Given the description of an element on the screen output the (x, y) to click on. 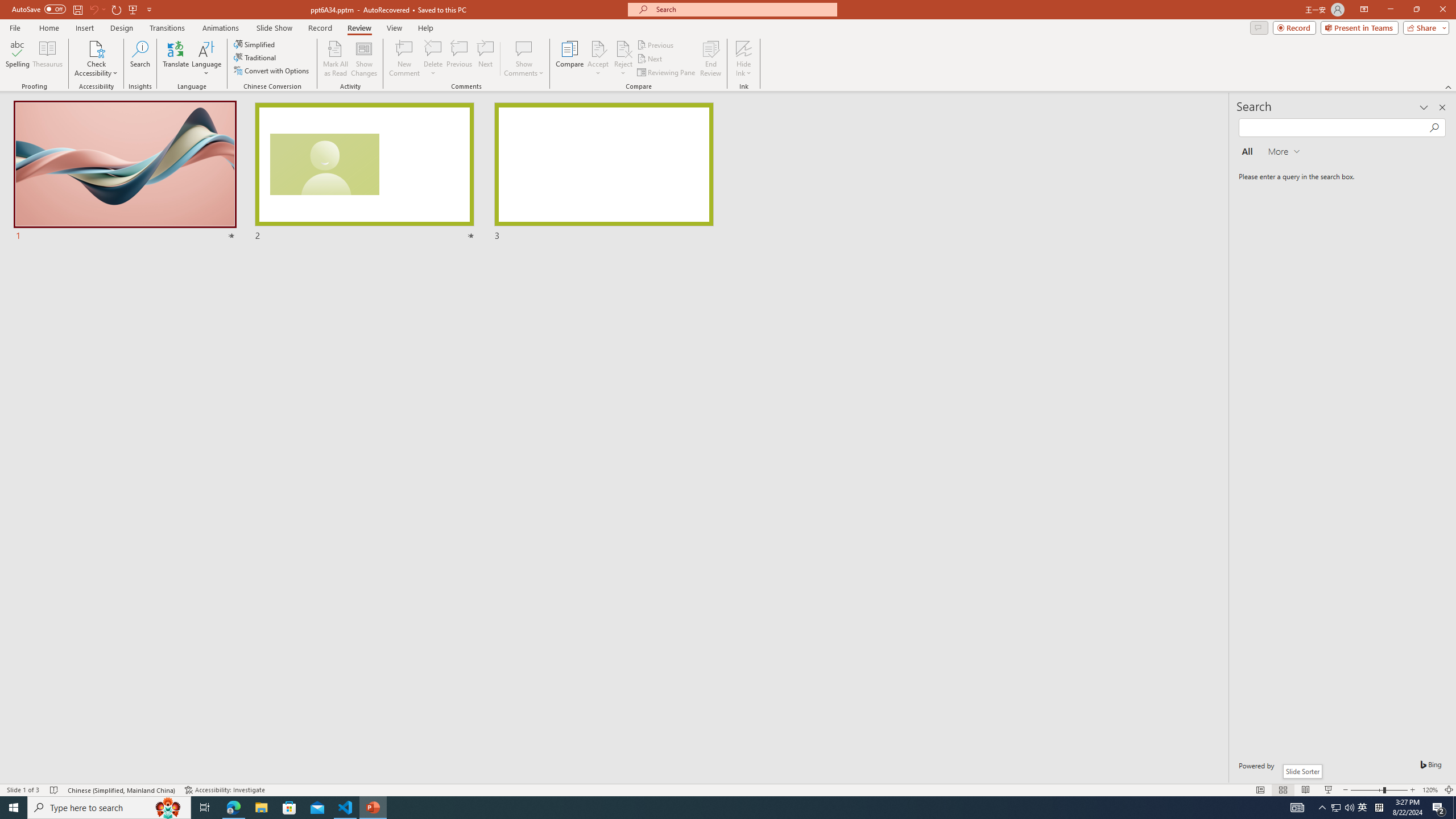
Previous (655, 44)
New Comment (403, 58)
Show Comments (524, 58)
